Given the description of an element on the screen output the (x, y) to click on. 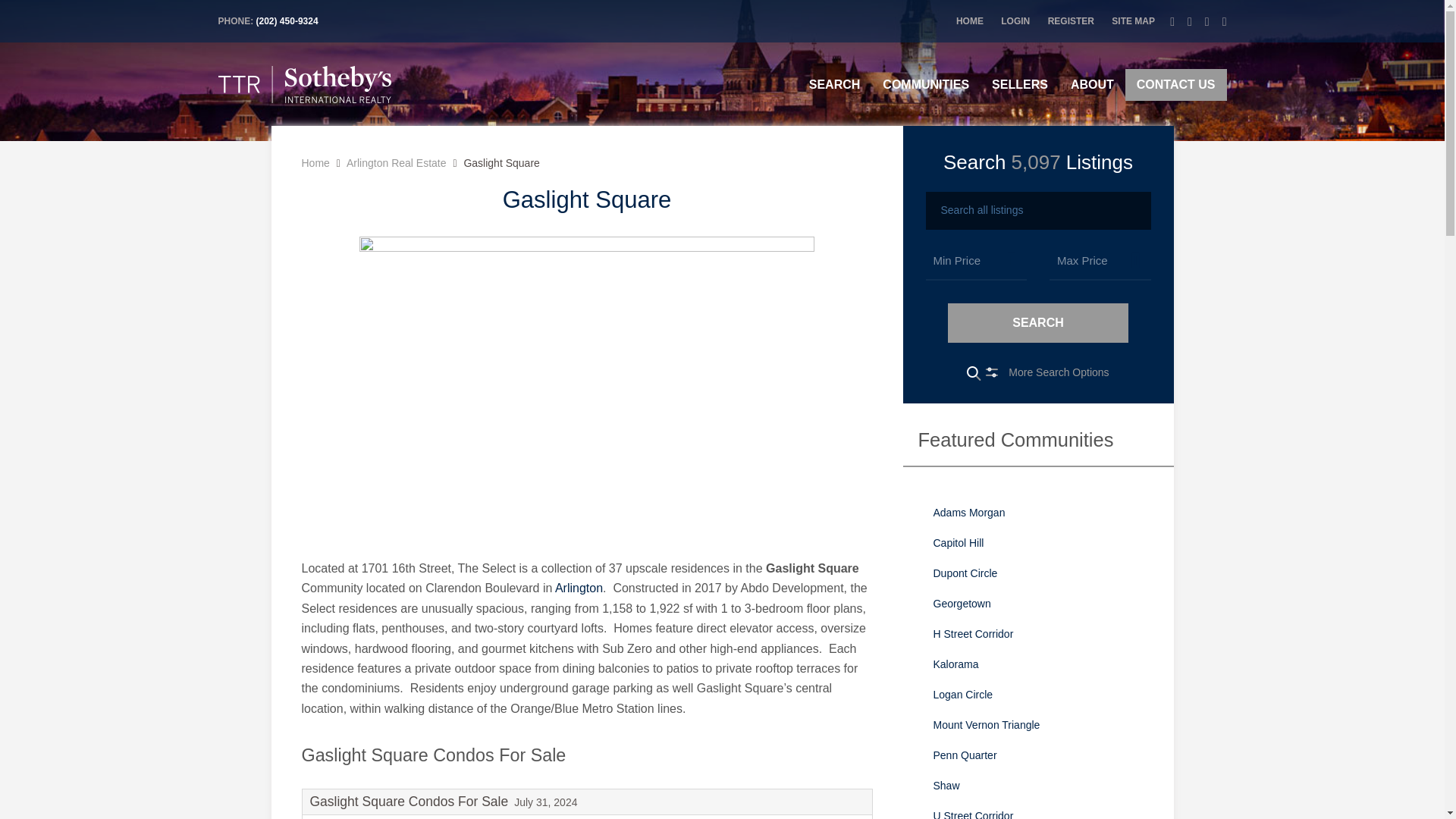
arlington real estate (578, 587)
SITE MAP (1133, 20)
SEARCH (834, 84)
ABOUT (1092, 84)
Adams Morgan (1037, 512)
COMMUNITIES (924, 84)
Dupont Circle (1037, 572)
Capitol Hill  (1037, 542)
HOME (970, 20)
LOGIN (1015, 20)
SELLERS (1019, 84)
REGISTER (1071, 20)
